Given the description of an element on the screen output the (x, y) to click on. 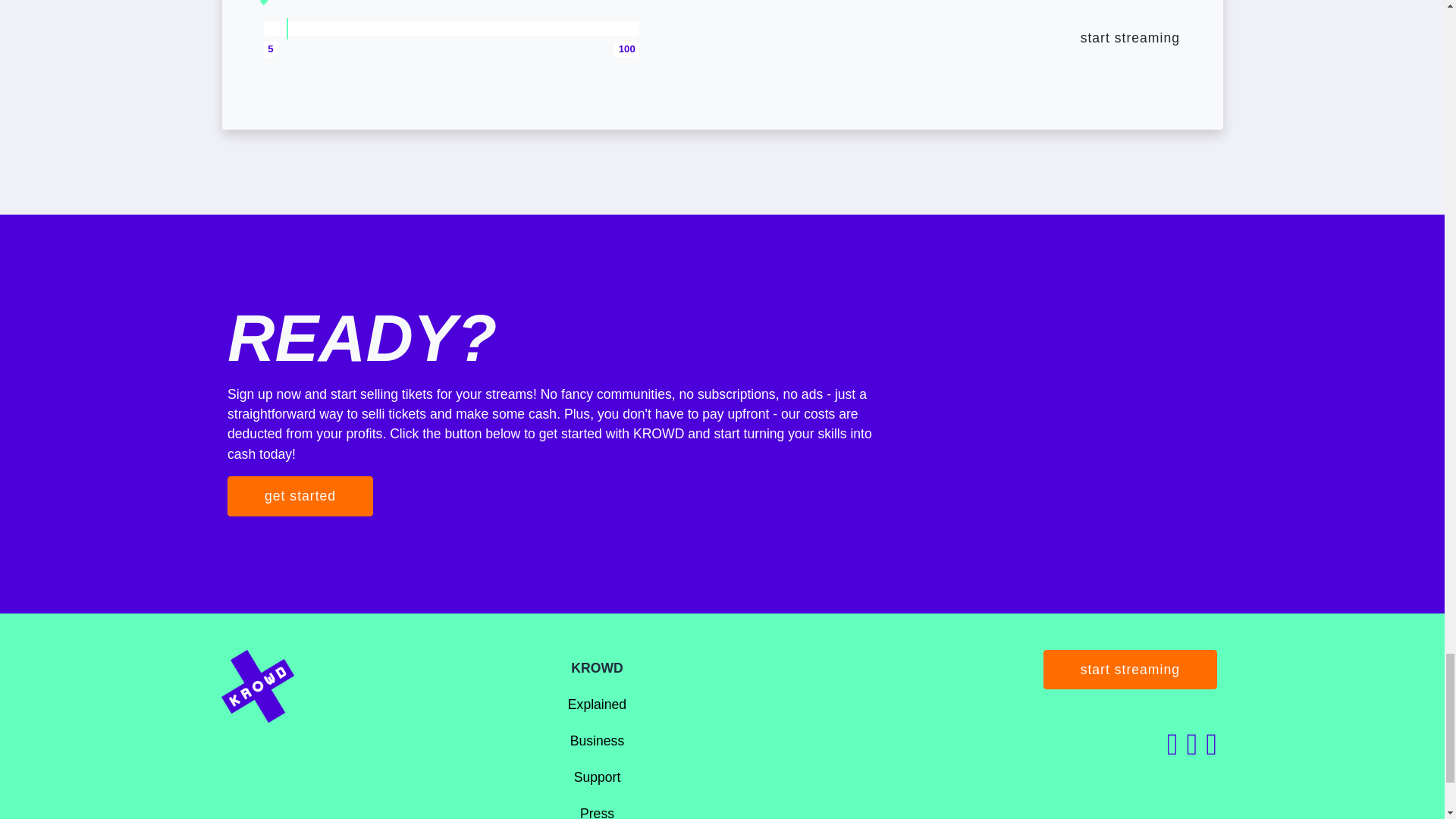
Support (597, 776)
start streaming (1130, 669)
get started (299, 495)
Press (596, 812)
Explained (596, 703)
10 (451, 28)
Business (597, 740)
